Given the description of an element on the screen output the (x, y) to click on. 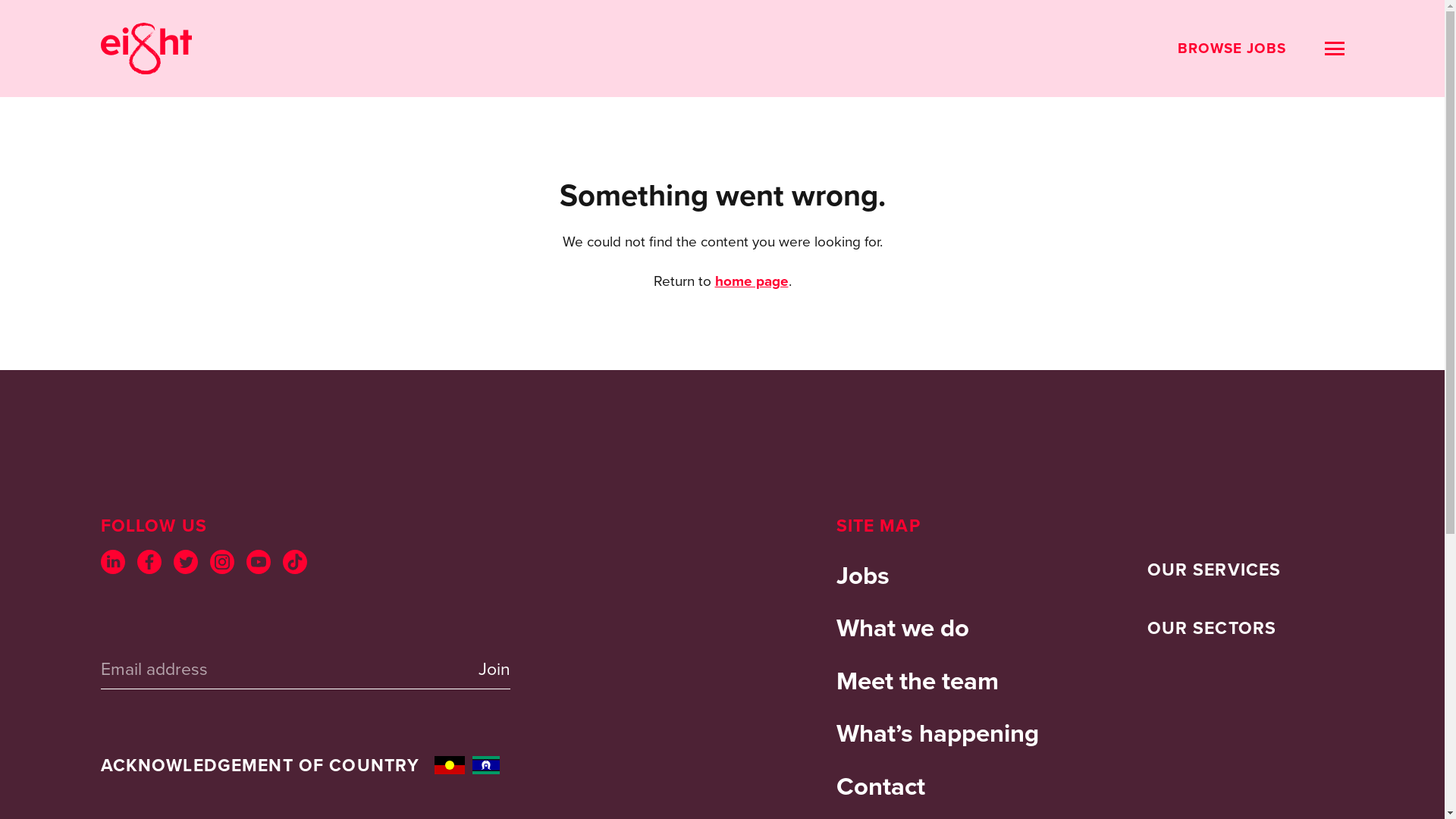
What we do Element type: text (937, 627)
Eight Recruitment Instagram Element type: text (221, 561)
Eight Recruitment Element type: text (145, 48)
Eight Recruitment YouTube Element type: text (257, 561)
Eight Recruitment TikTok Element type: text (294, 561)
Contact Element type: text (937, 785)
OUR SECTORS Element type: text (1211, 628)
Meet the team Element type: text (937, 680)
Join Element type: text (485, 668)
Jobs Element type: text (937, 575)
Toggle navigation Element type: text (1334, 48)
home page Element type: text (750, 280)
Eight Recruitment LinkedIn Element type: text (112, 561)
OUR SERVICES Element type: text (1213, 569)
Eight Recruitment Twitter Element type: text (184, 561)
BROWSE JOBS Element type: text (1231, 48)
Eight Recruitment Facebook Element type: text (148, 561)
